Given the description of an element on the screen output the (x, y) to click on. 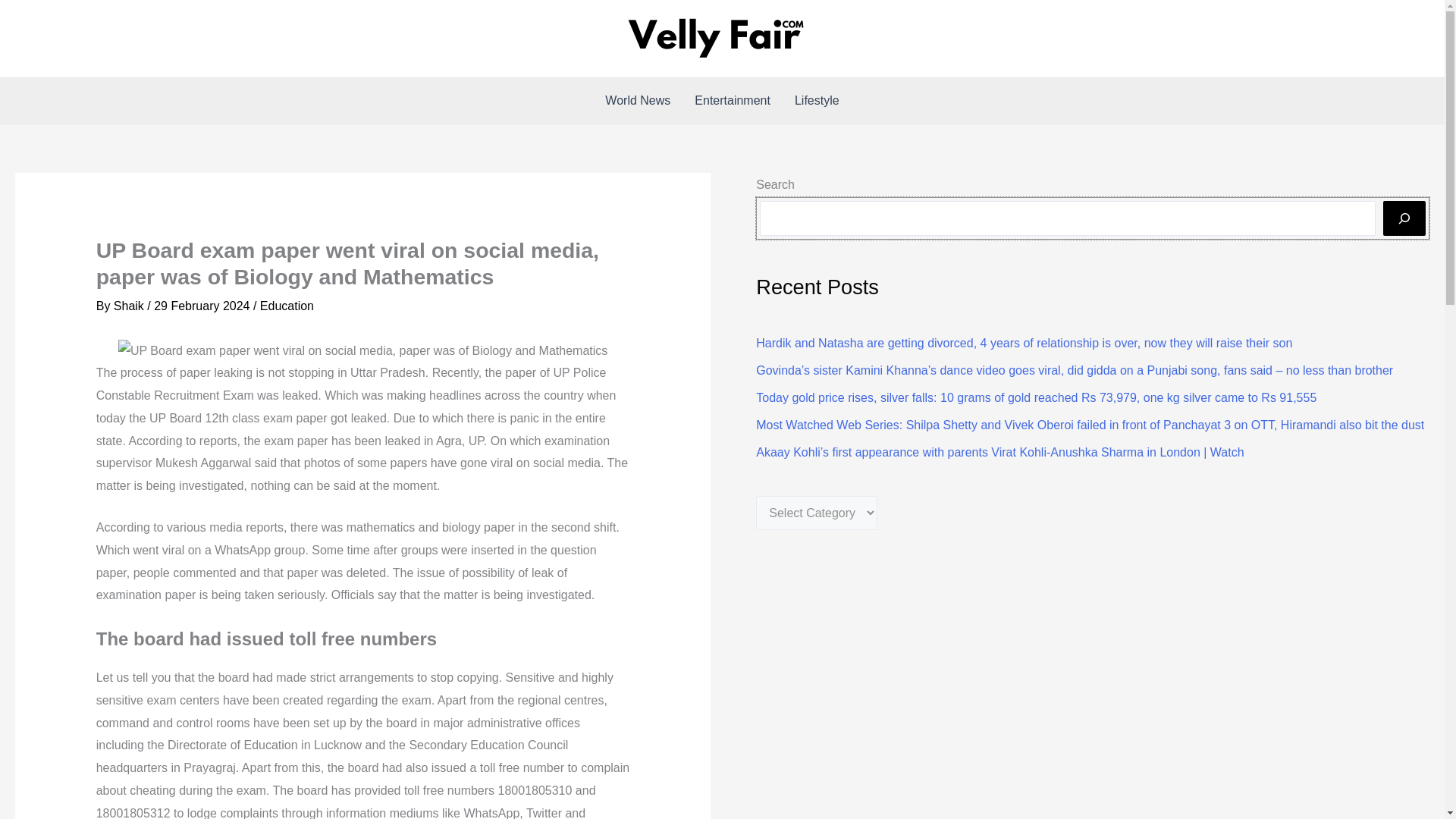
Education (287, 305)
Shaik (130, 305)
Lifestyle (817, 100)
Entertainment (732, 100)
World News (637, 100)
View all posts by Shaik (130, 305)
